Given the description of an element on the screen output the (x, y) to click on. 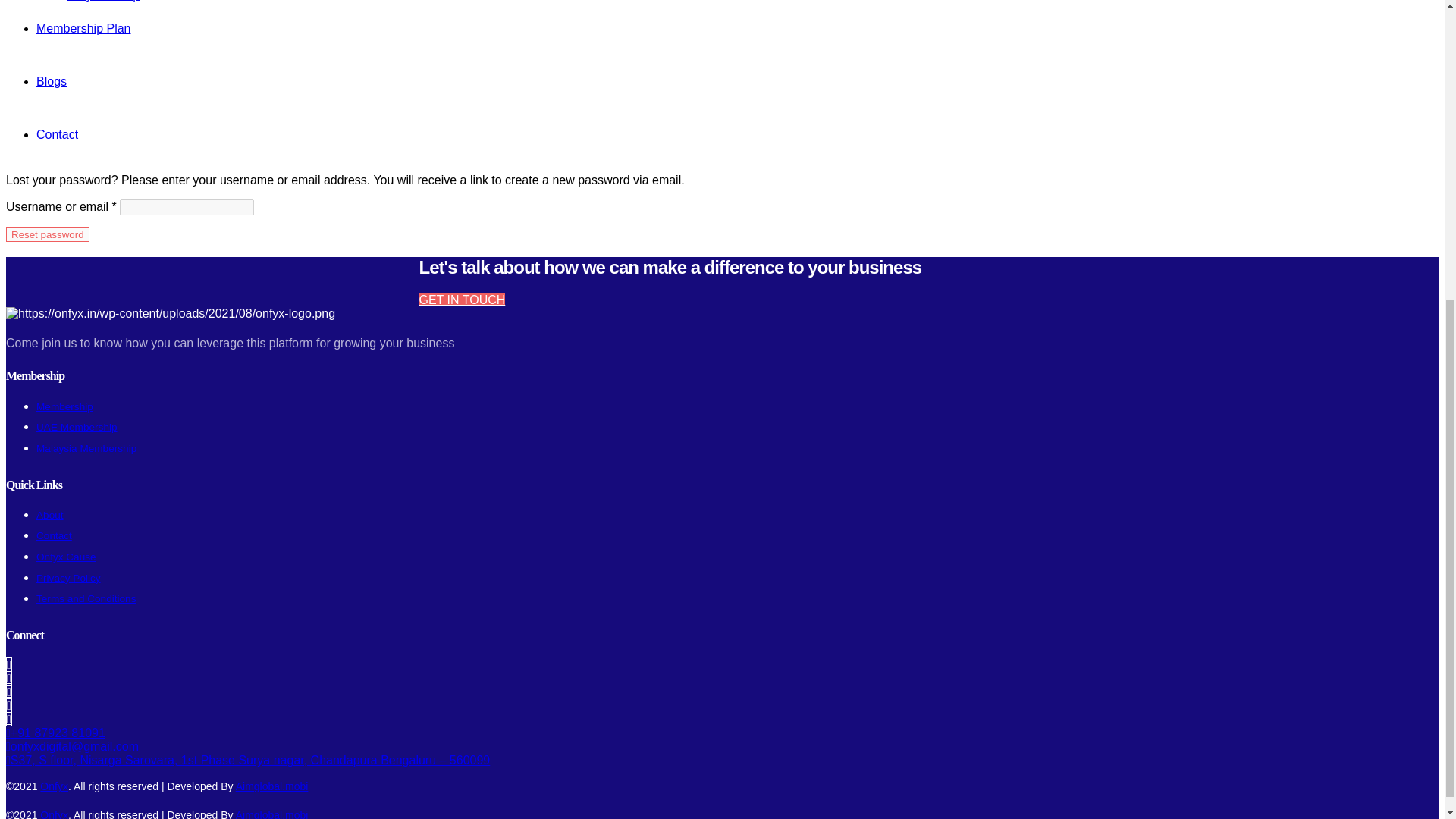
Membership Plan (83, 28)
Onfyx Riseup (102, 0)
onfyx-logo (169, 314)
Blogs (51, 81)
GET IN TOUCH (462, 299)
